Given the description of an element on the screen output the (x, y) to click on. 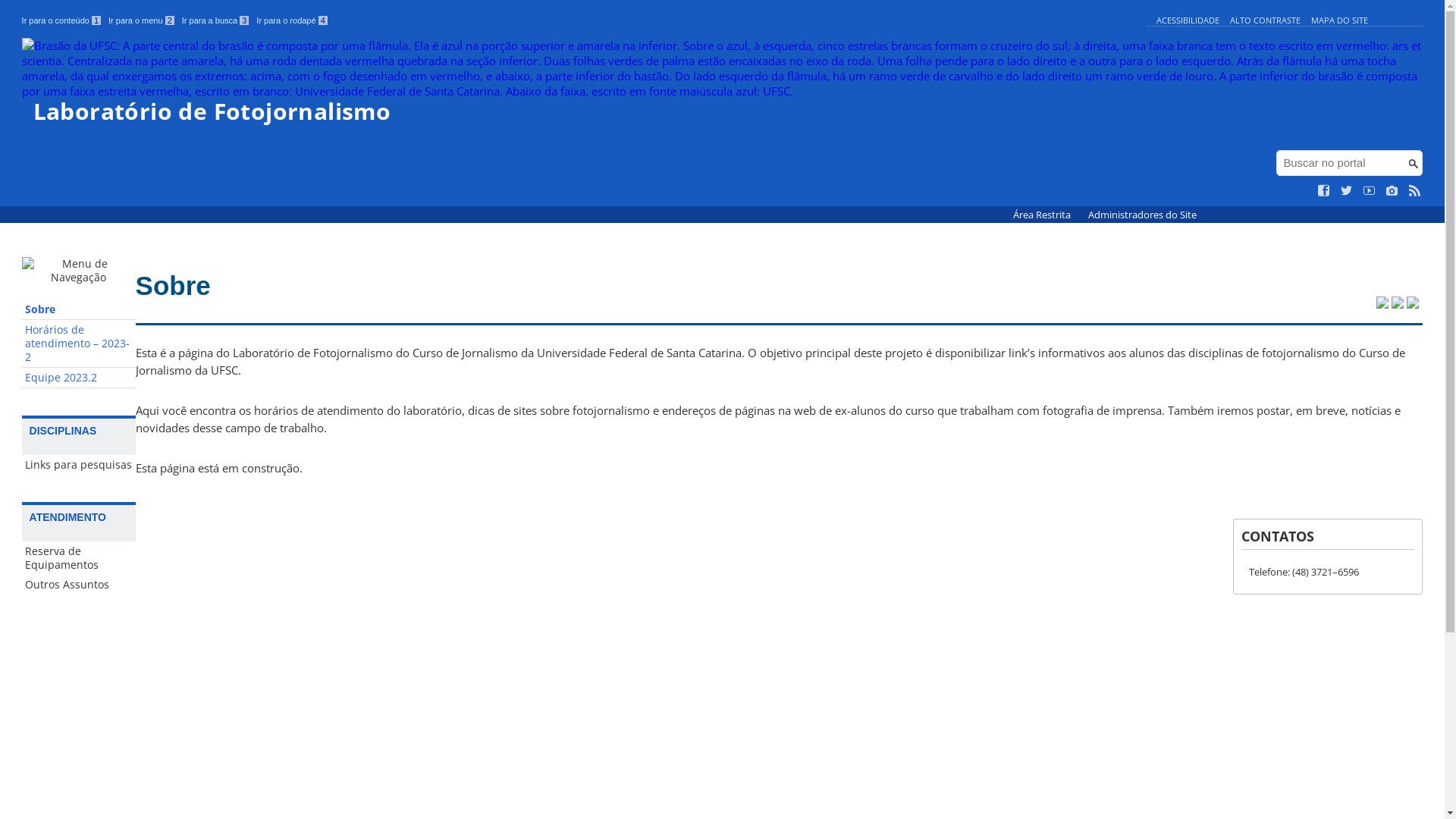
Equipe 2023.2 Element type: text (78, 377)
Curta no Facebook Element type: hover (1323, 191)
Ir para a busca 3 Element type: text (215, 20)
Compartilhar no Twitter Element type: hover (1382, 303)
Veja no Instagram Element type: hover (1392, 191)
Administradores do Site Element type: text (1141, 214)
MAPA DO SITE Element type: text (1339, 19)
Links para pesquisas Element type: text (78, 464)
Reserva de Equipamentos Element type: text (78, 557)
Compartilhar no Facebook Element type: hover (1397, 303)
Ir para o menu 2 Element type: text (141, 20)
Sobre Element type: text (172, 285)
Compartilhar no WhatsApp Element type: hover (1412, 303)
ALTO CONTRASTE Element type: text (1265, 19)
Sobre Element type: text (78, 309)
ACESSIBILIDADE Element type: text (1187, 19)
Siga no Twitter Element type: hover (1346, 191)
Outros Assuntos Element type: text (78, 584)
